Given the description of an element on the screen output the (x, y) to click on. 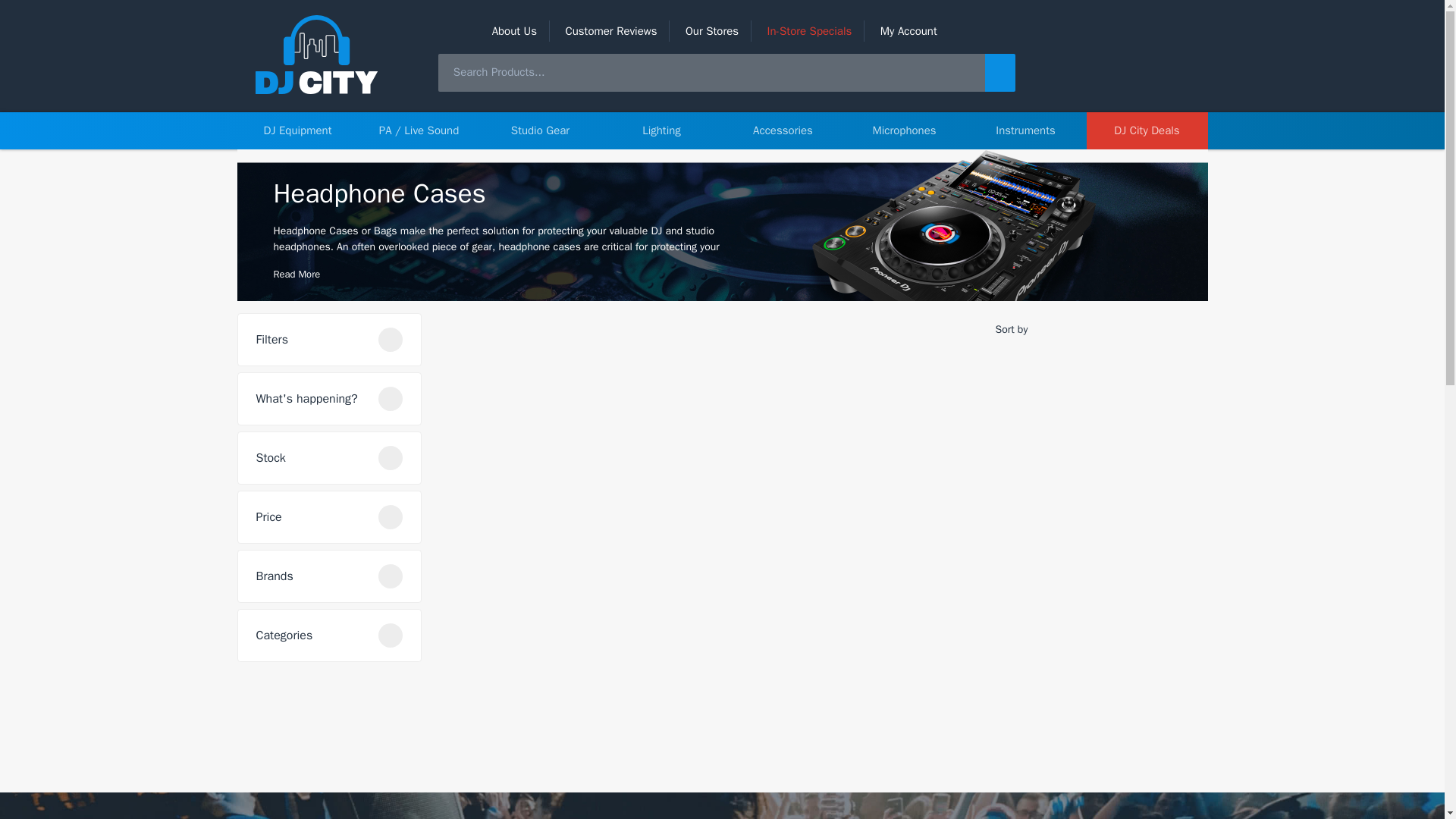
About Us (514, 30)
DJ Equipment (296, 130)
My Account (908, 30)
In-Store Specials (809, 30)
Customer Reviews (610, 30)
Our Stores (711, 30)
